Given the description of an element on the screen output the (x, y) to click on. 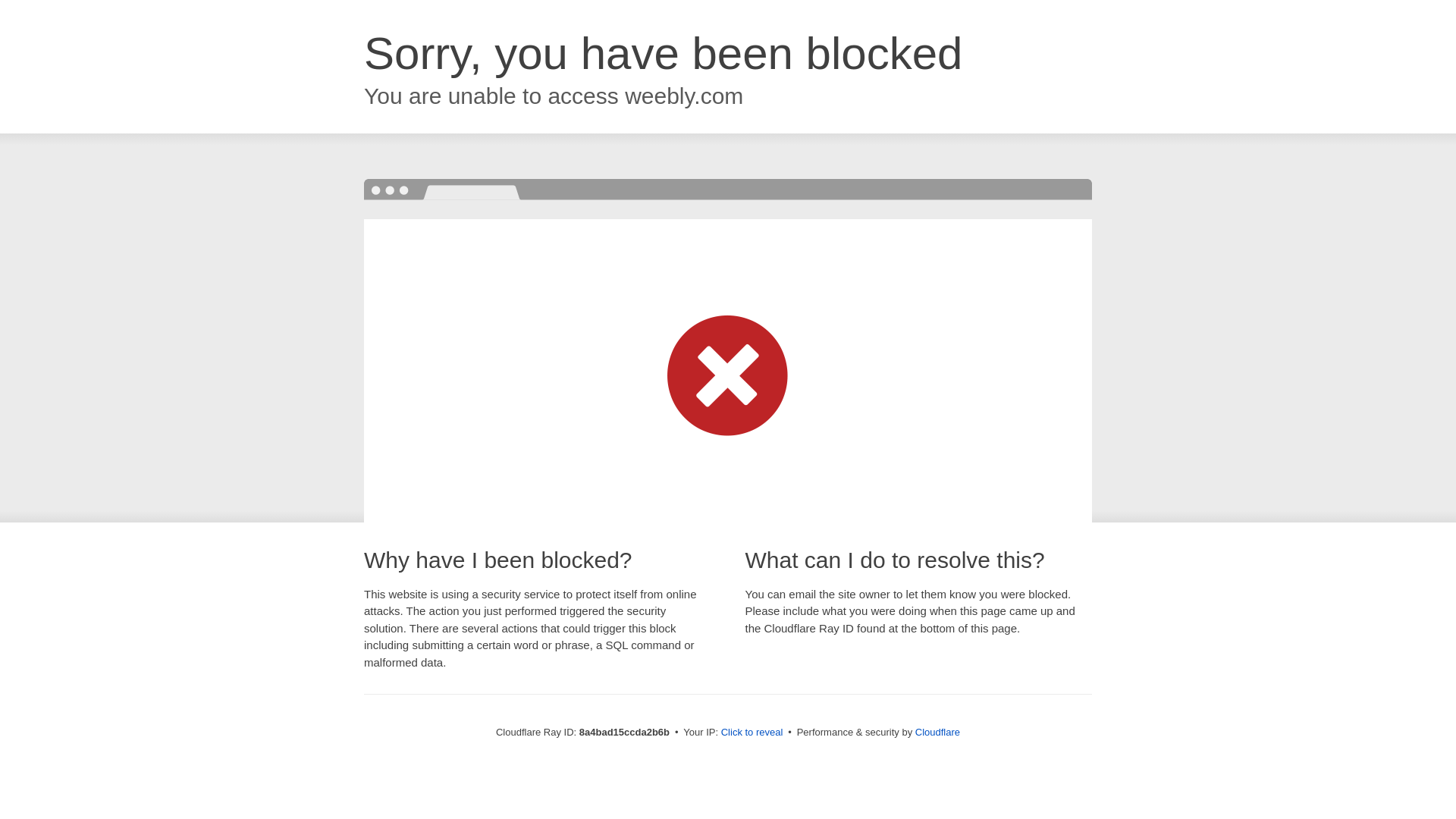
Cloudflare (937, 731)
Click to reveal (751, 732)
